Given the description of an element on the screen output the (x, y) to click on. 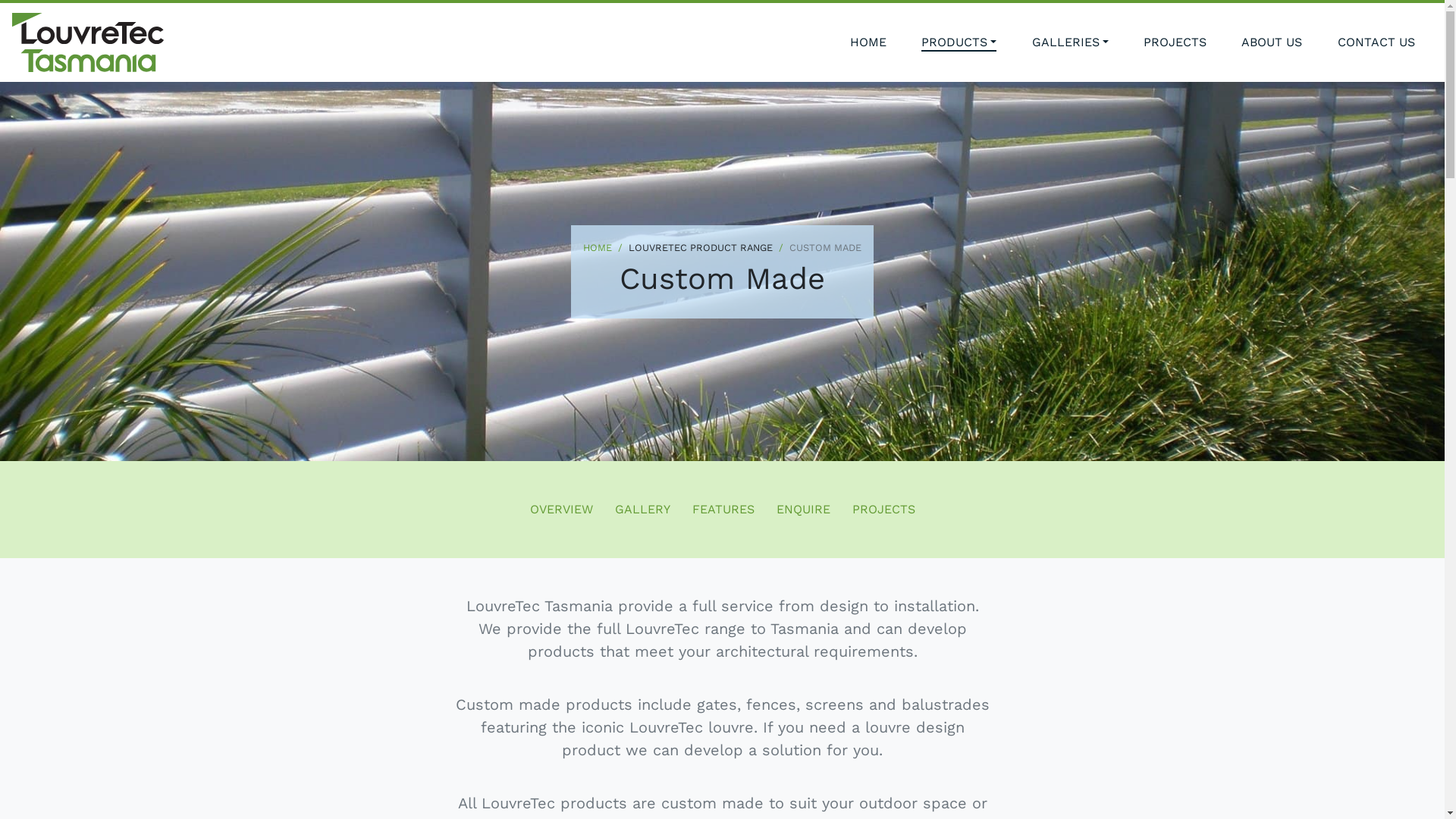
PROJECTS Element type: text (1174, 42)
OVERVIEW Element type: text (560, 509)
ABOUT US Element type: text (1271, 42)
LOUVRETEC PRODUCT RANGE Element type: text (691, 247)
FEATURES Element type: text (722, 509)
HOME Element type: text (597, 247)
GALLERY Element type: text (641, 509)
GALLERIES Element type: text (1070, 42)
Skip to content Element type: text (0, 0)
HOME Element type: text (868, 42)
PRODUCTS Element type: text (958, 42)
CONTACT US Element type: text (1376, 42)
PROJECTS Element type: text (883, 509)
ENQUIRE Element type: text (803, 509)
